Given the description of an element on the screen output the (x, y) to click on. 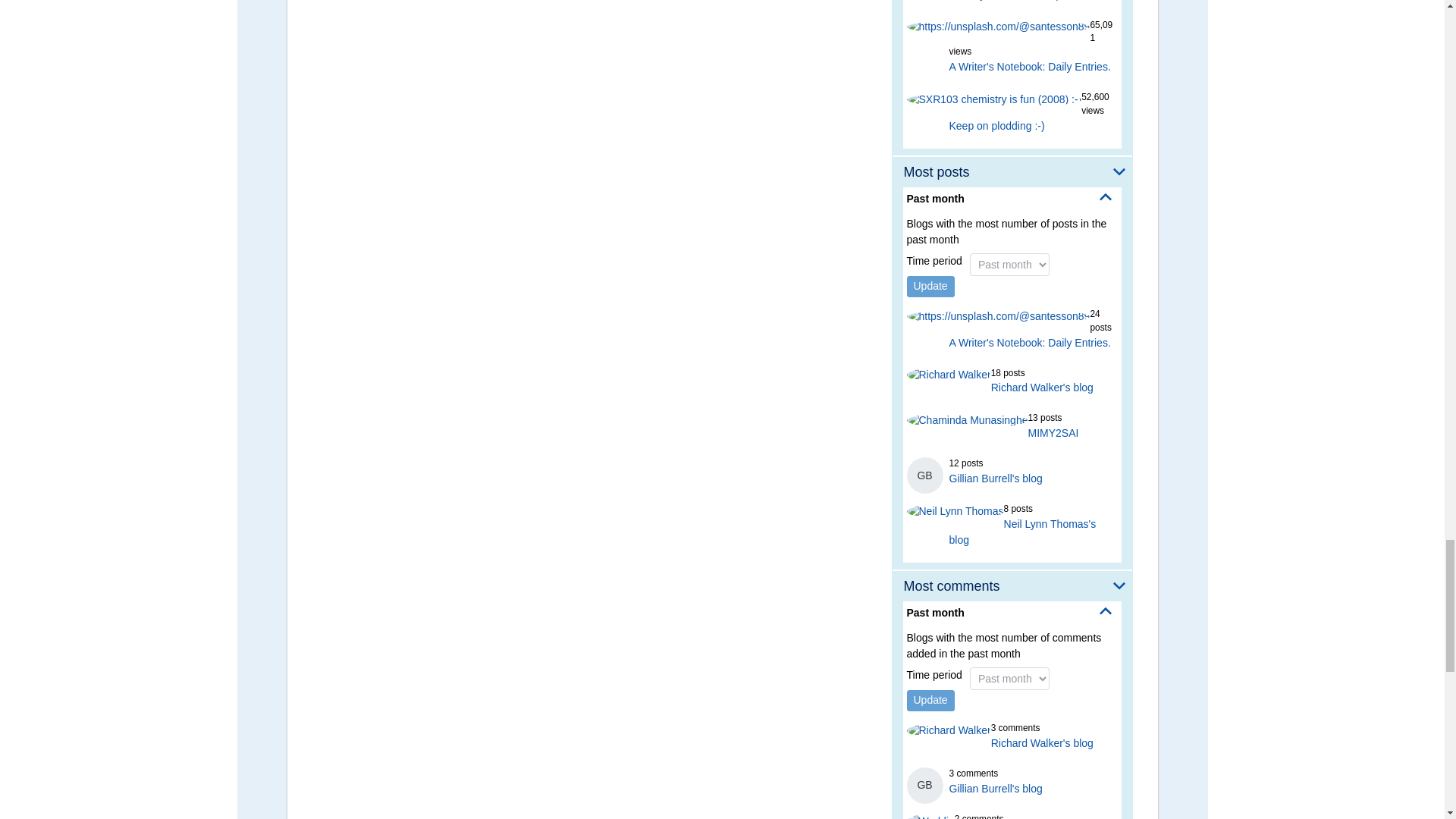
Update (931, 286)
Update (931, 700)
